Given the description of an element on the screen output the (x, y) to click on. 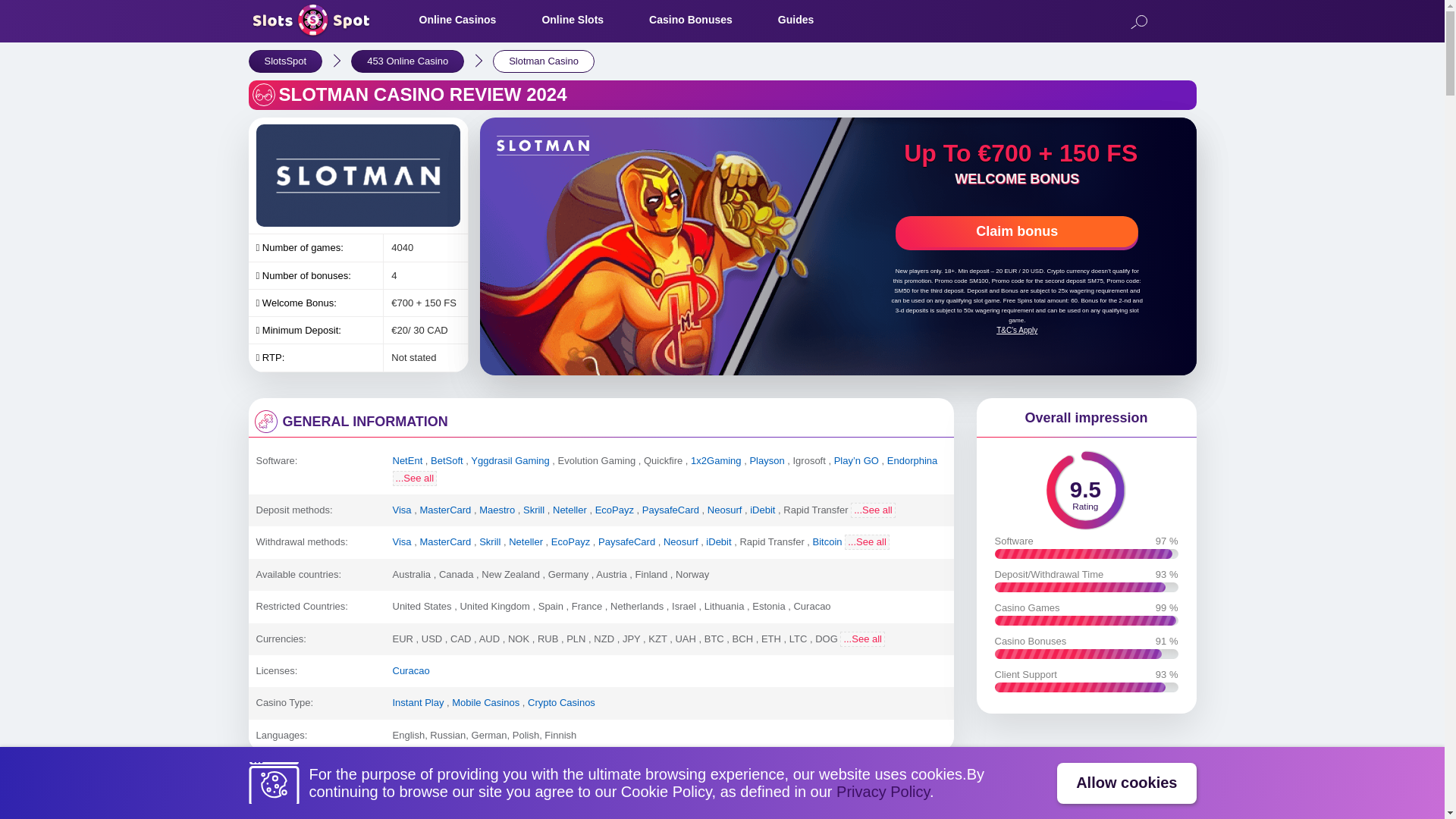
Search (1085, 488)
Online Slots (1138, 22)
Online Casinos (572, 19)
